Given the description of an element on the screen output the (x, y) to click on. 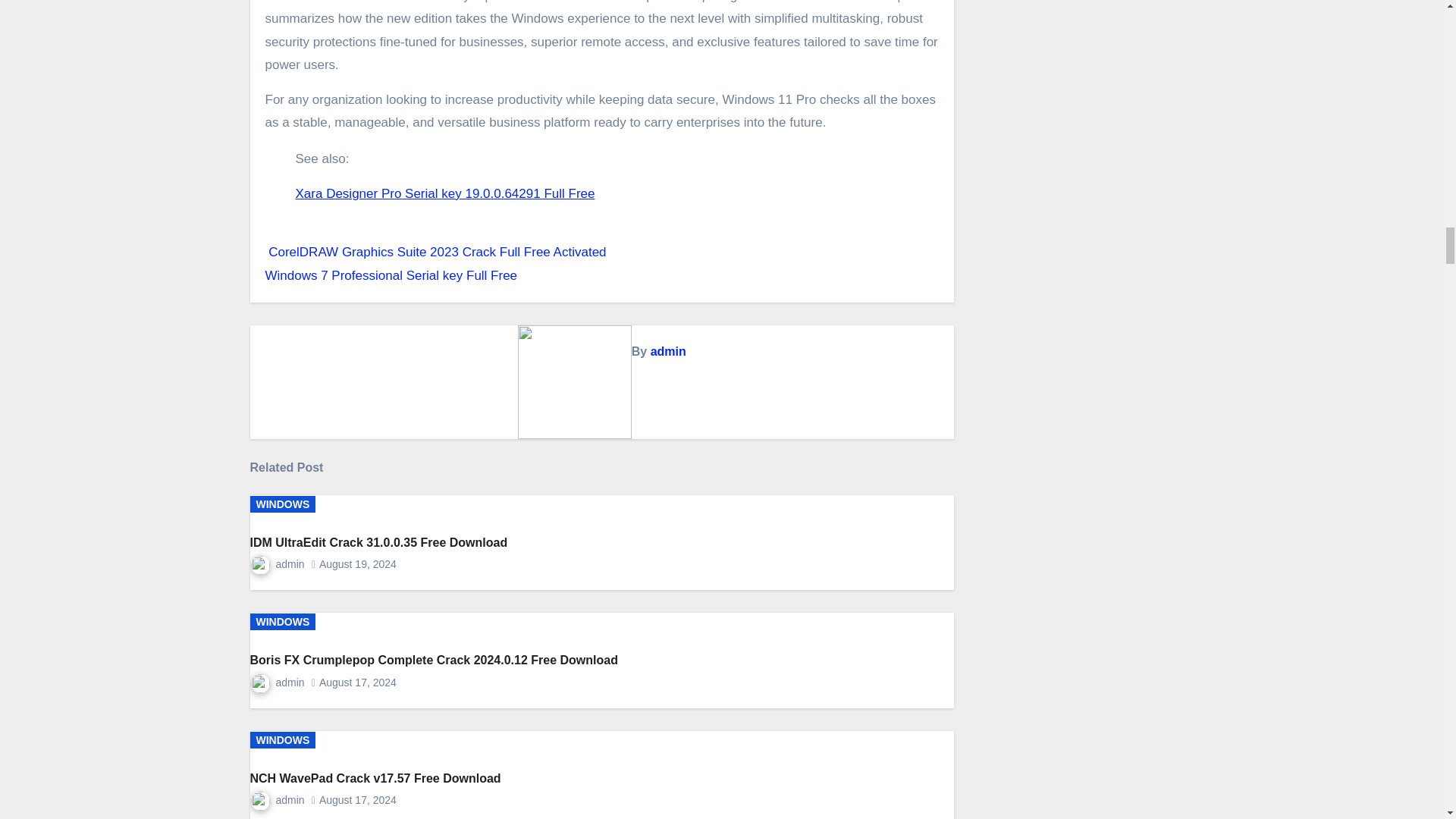
Permalink to: IDM UltraEdit Crack 31.0.0.35 Free Download (379, 542)
Permalink to: NCH WavePad Crack v17.57 Free Download (375, 778)
Xara Designer Pro Serial key 19.0.0.64291 Full Free (445, 193)
